Given the description of an element on the screen output the (x, y) to click on. 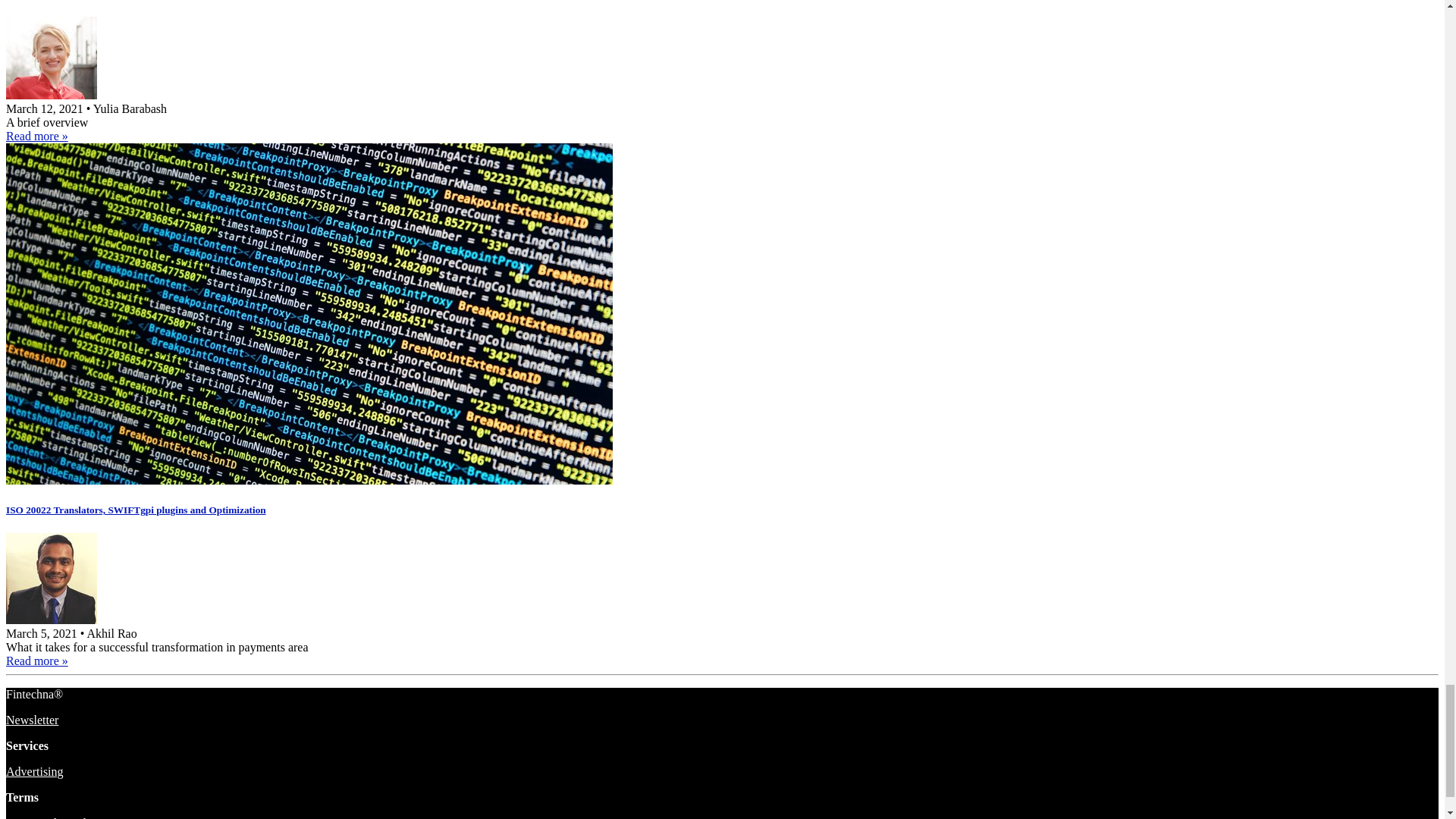
Yulia Barabash (51, 94)
Hot Market: Why Latin America? And Why Now? (36, 135)
